Given the description of an element on the screen output the (x, y) to click on. 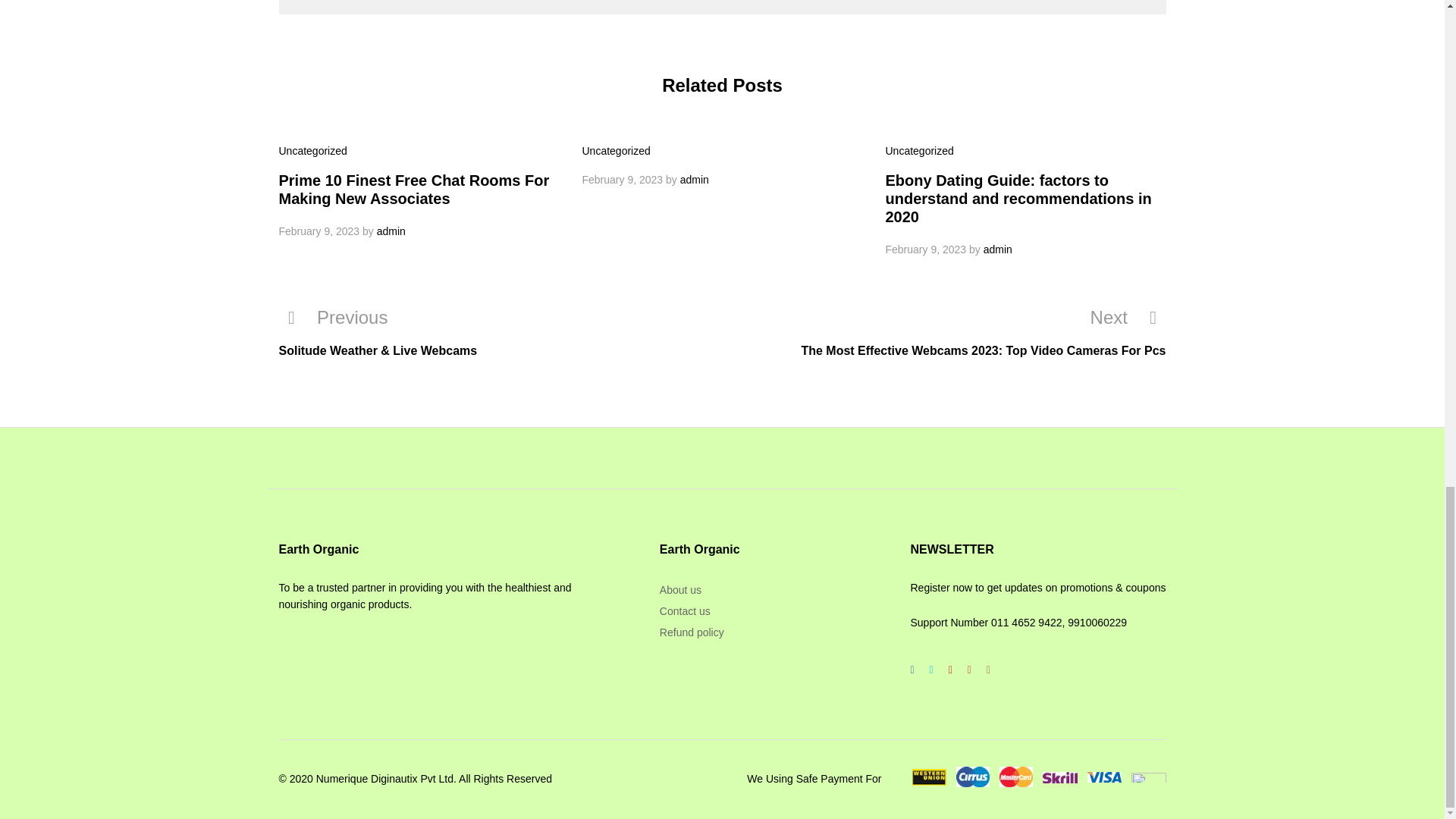
Uncategorized (919, 150)
Instagram (987, 669)
Uncategorized (313, 150)
Uncategorized (616, 150)
Facebook (911, 669)
admin (694, 179)
Twitter (930, 669)
February 9, 2023 (319, 231)
Google Plus (949, 669)
